Given the description of an element on the screen output the (x, y) to click on. 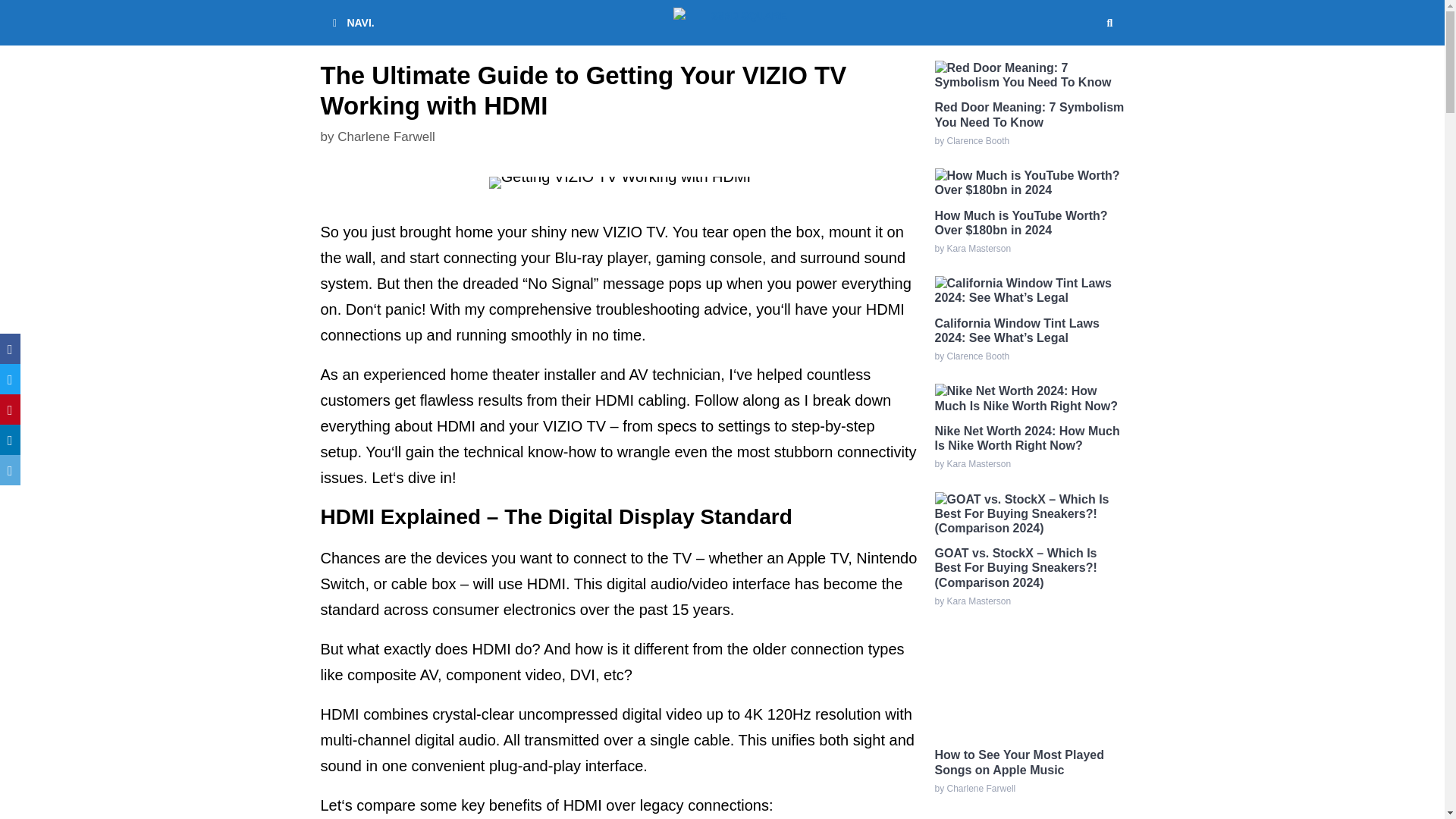
NAVI. (350, 22)
View all posts by Charlene Farwell (386, 136)
33rd Square (729, 22)
